Given the description of an element on the screen output the (x, y) to click on. 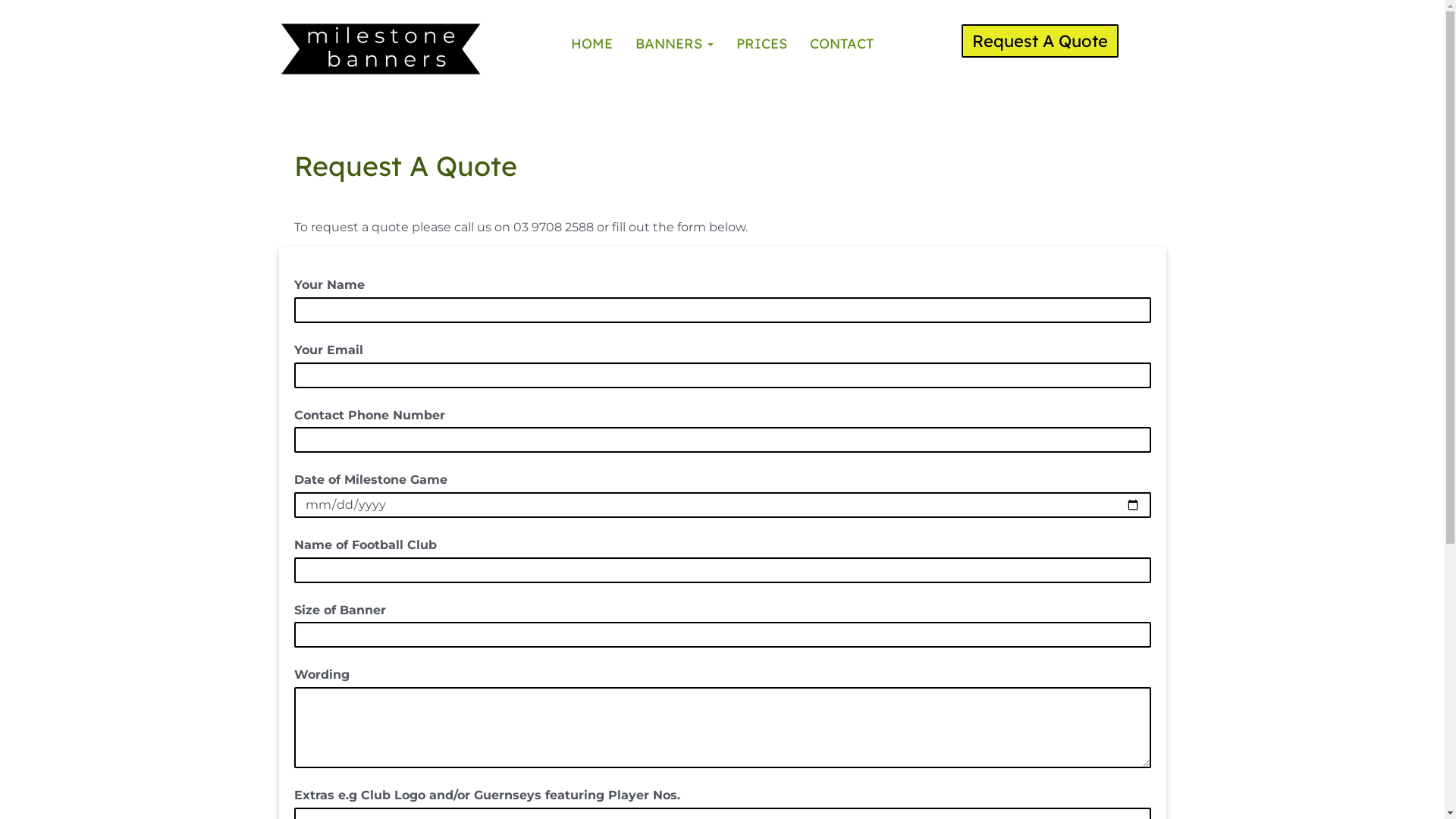
BANNERS Element type: text (674, 43)
PRICES Element type: text (761, 43)
CONTACT Element type: text (841, 43)
Request A Quote Element type: text (1039, 40)
HOME Element type: text (591, 43)
